Given the description of an element on the screen output the (x, y) to click on. 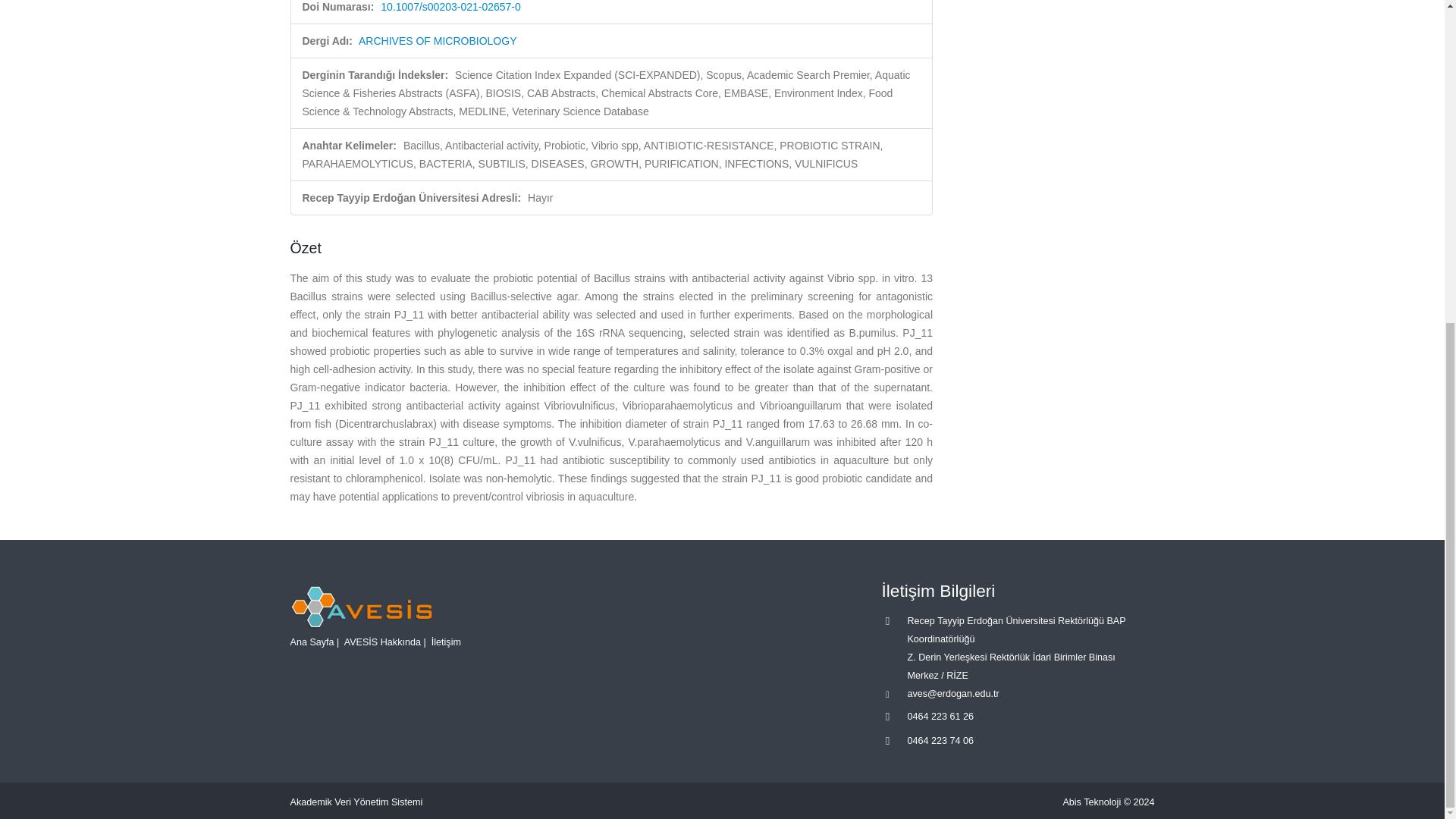
ARCHIVES OF MICROBIOLOGY (437, 40)
0464 223 61 26 (940, 716)
0464 223 74 06 (940, 740)
Abis Teknoloji (1091, 801)
Ana Sayfa (311, 642)
